Given the description of an element on the screen output the (x, y) to click on. 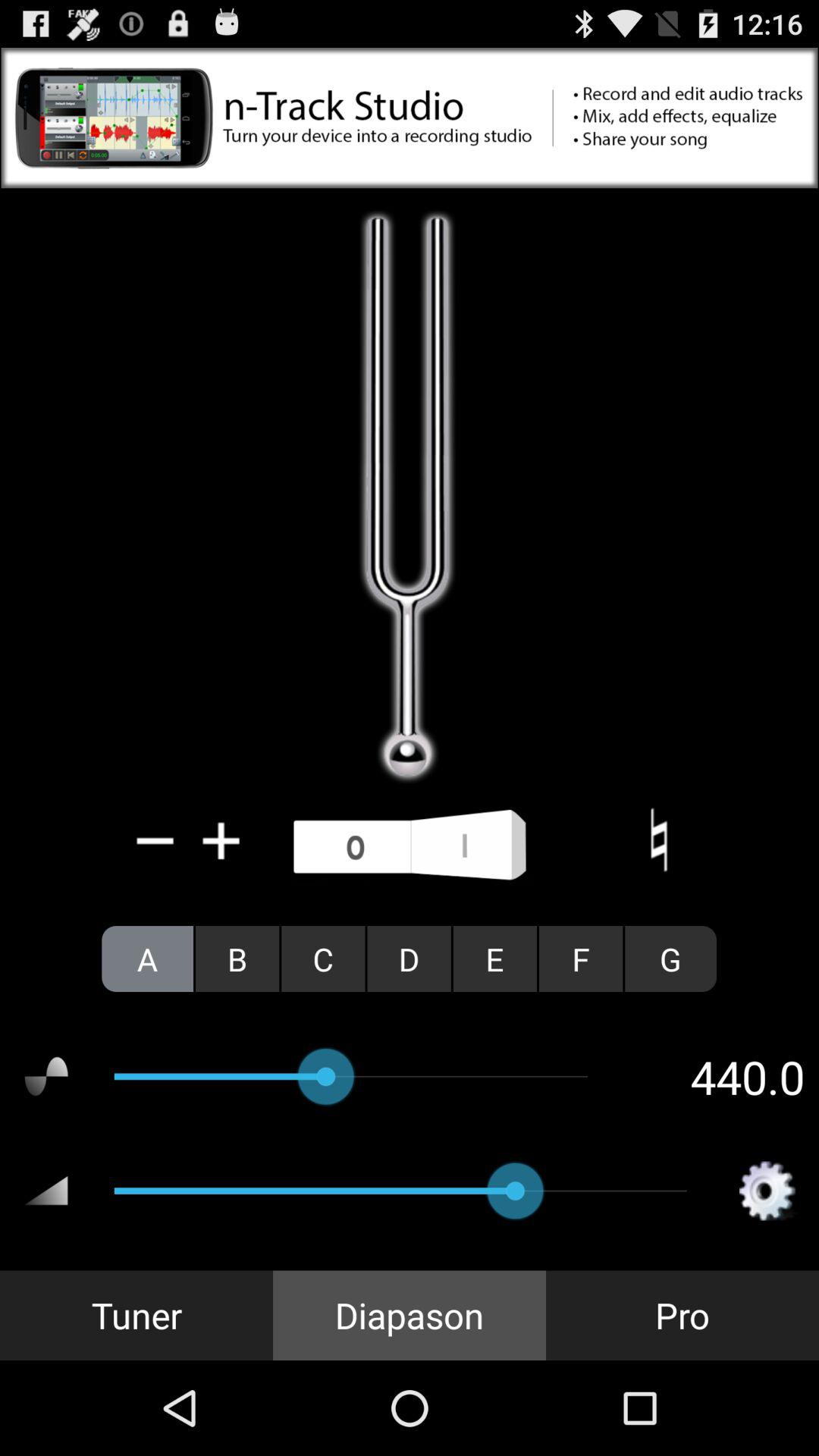
swipe until f (580, 958)
